Given the description of an element on the screen output the (x, y) to click on. 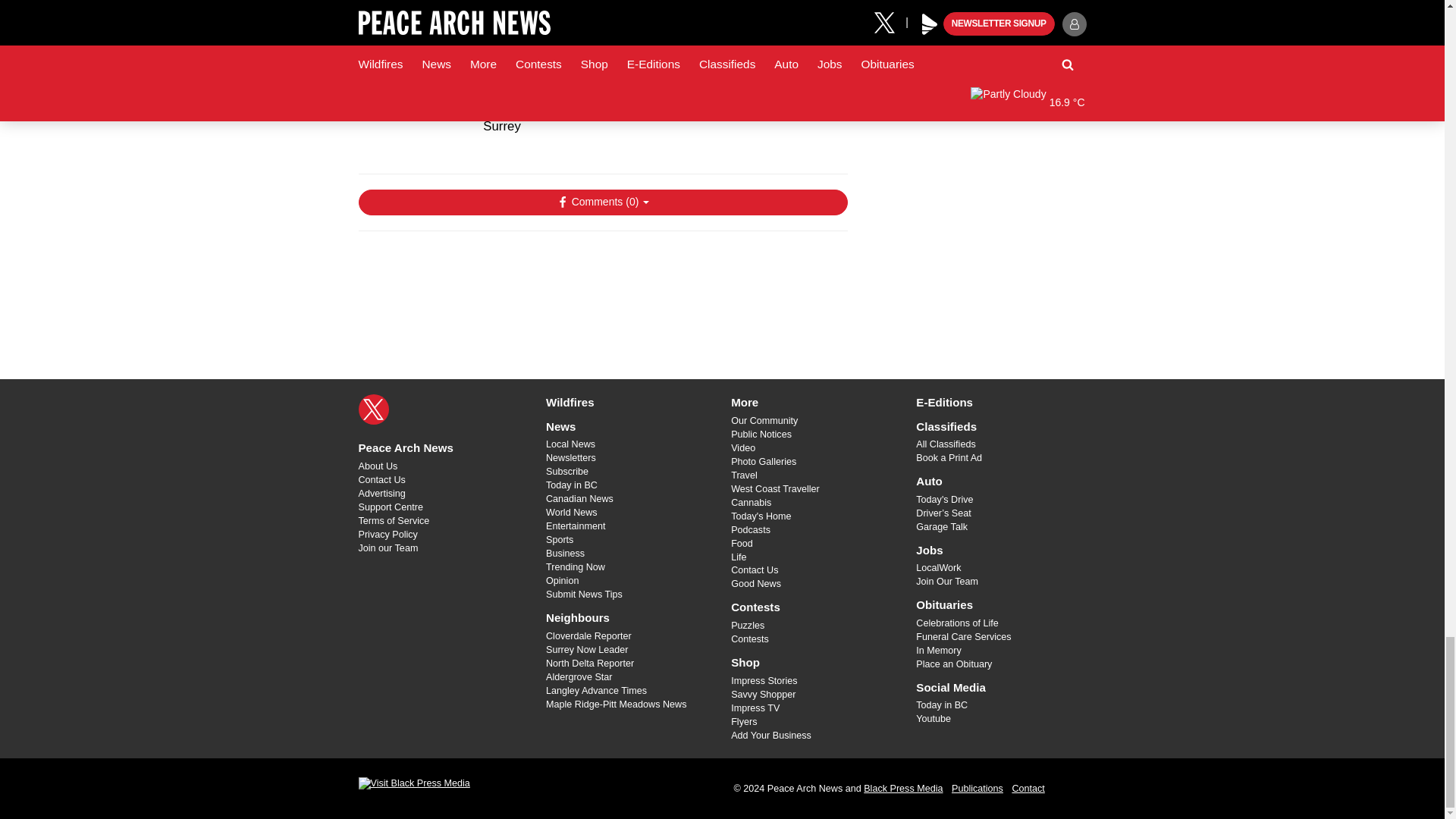
X (373, 409)
Show Comments (602, 202)
